Given the description of an element on the screen output the (x, y) to click on. 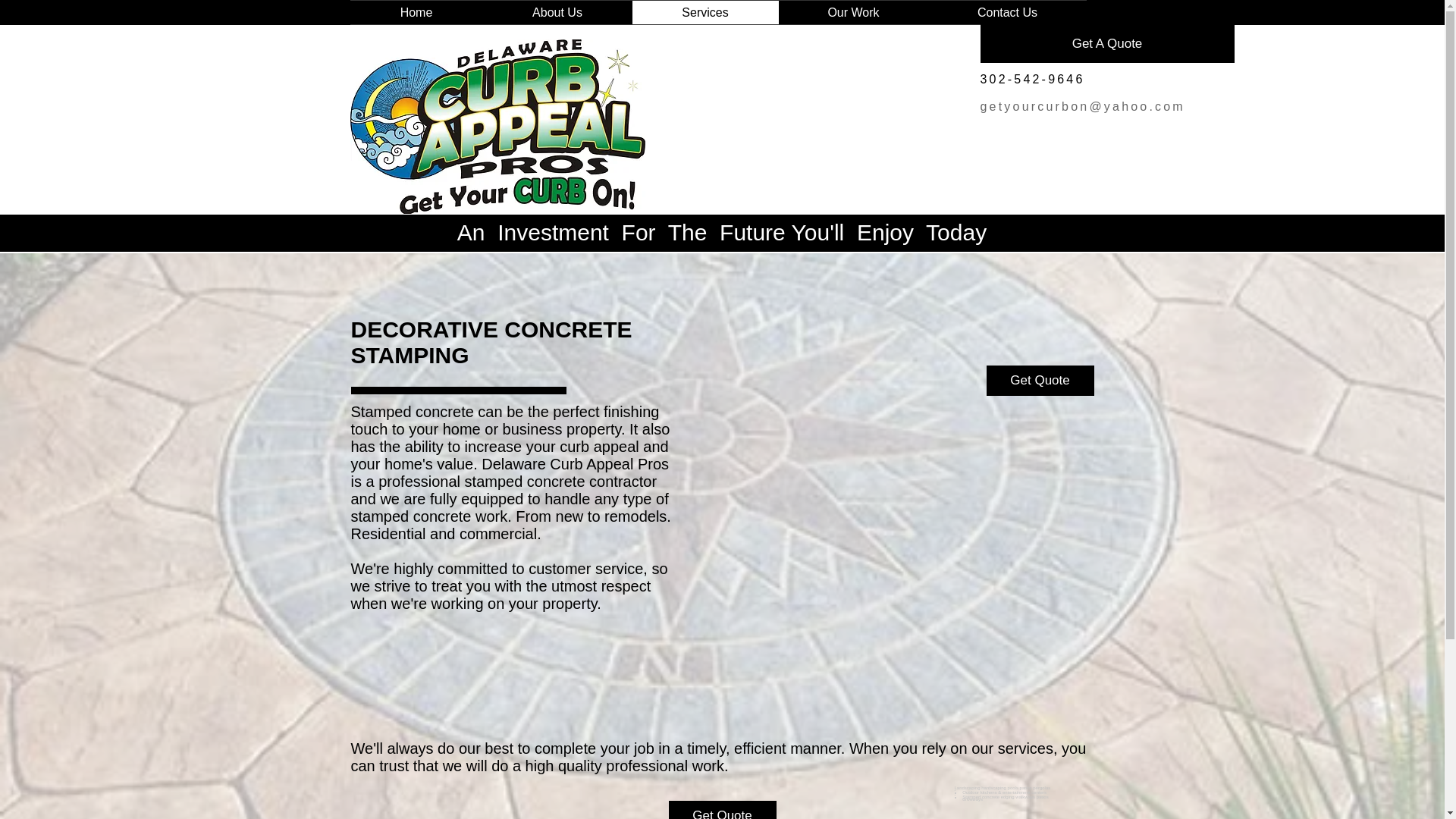
Home (416, 12)
Contact Us (1007, 12)
About Us (556, 12)
Get Quote (1039, 380)
Get Quote (722, 809)
302-542-9646 (1031, 78)
Our Work (852, 12)
Services (704, 12)
Get A Quote (1106, 43)
